Given the description of an element on the screen output the (x, y) to click on. 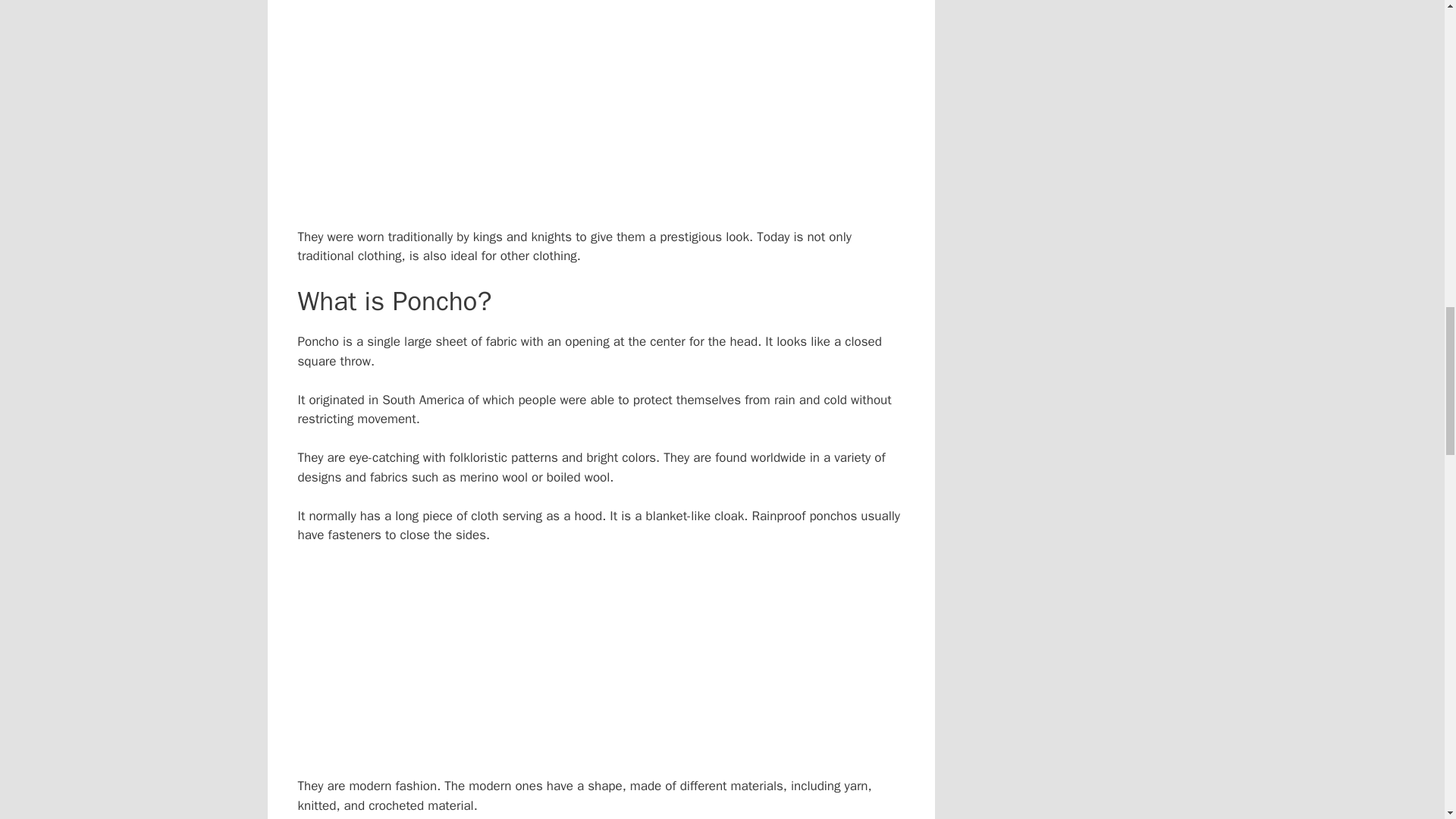
Advertisement (615, 7)
